Given the description of an element on the screen output the (x, y) to click on. 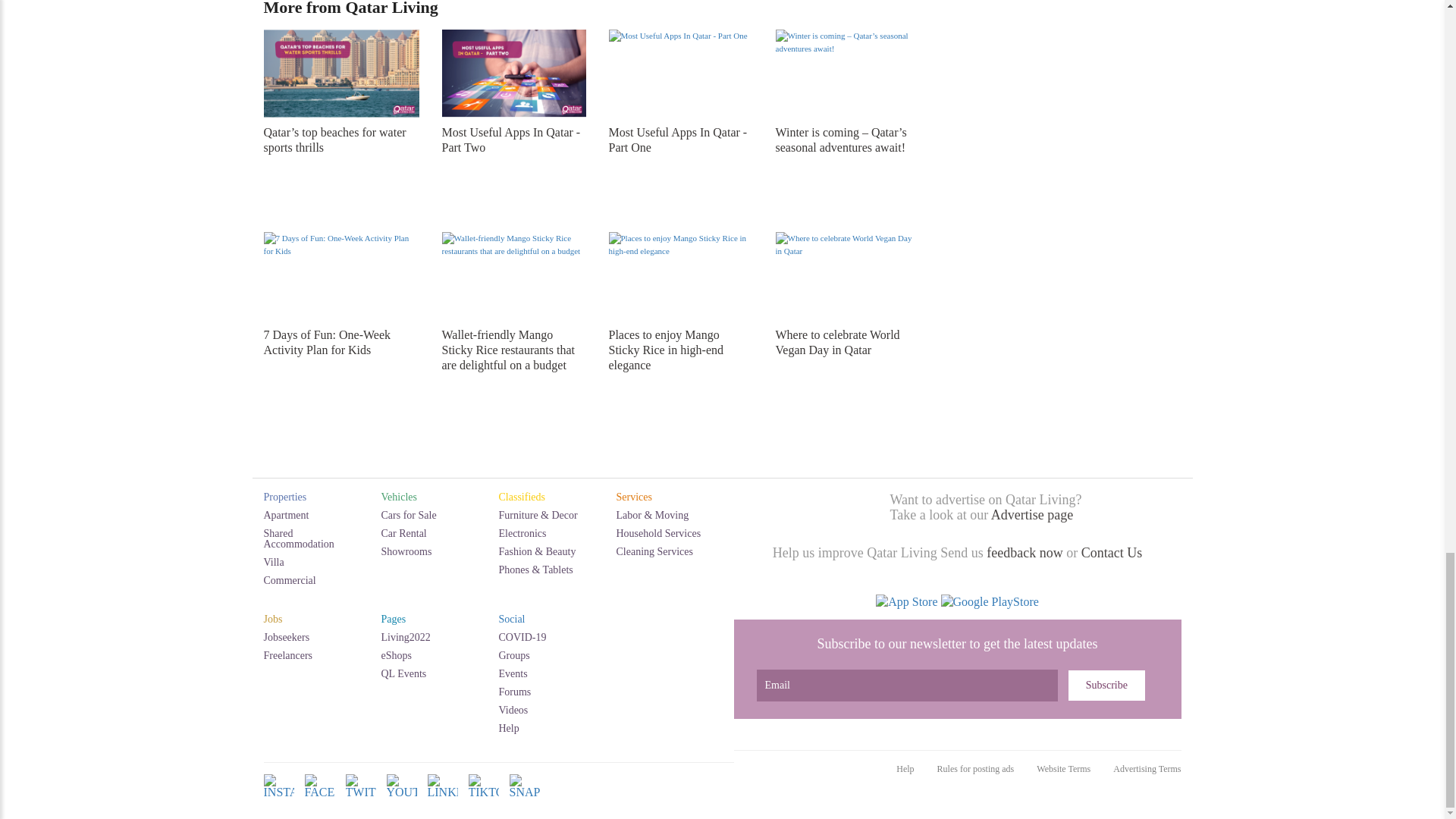
FACEBOOK (319, 797)
Subscribe (1106, 685)
YOUTUBE (401, 797)
INSTAGRAM (278, 797)
TWITTER (360, 797)
SNAPCHAT (524, 797)
LINKEDIN (443, 797)
TIKTOK (483, 797)
